Given the description of an element on the screen output the (x, y) to click on. 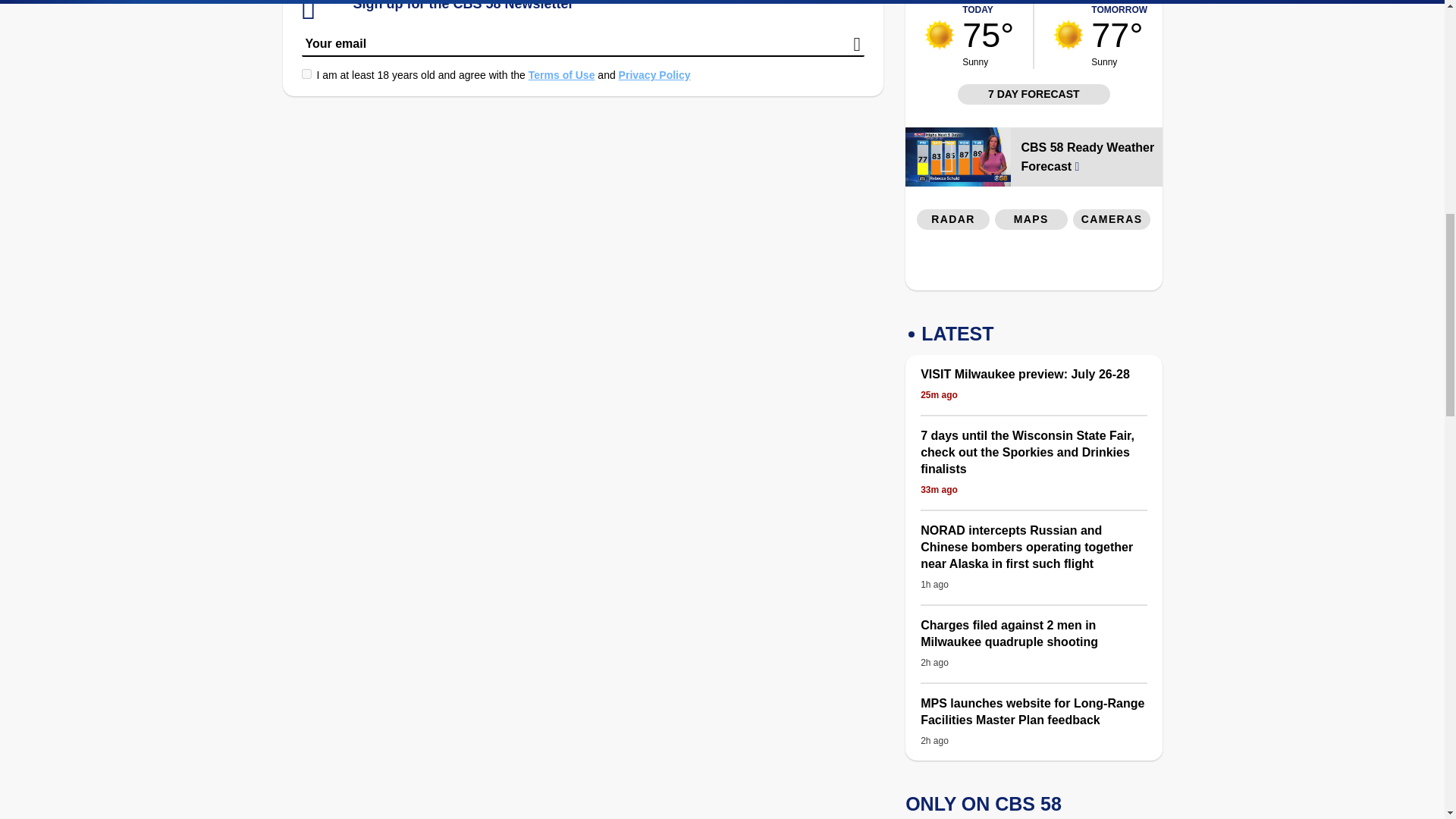
weather (939, 34)
on (306, 73)
weather (1067, 34)
3rd party ad content (1034, 263)
